Given the description of an element on the screen output the (x, y) to click on. 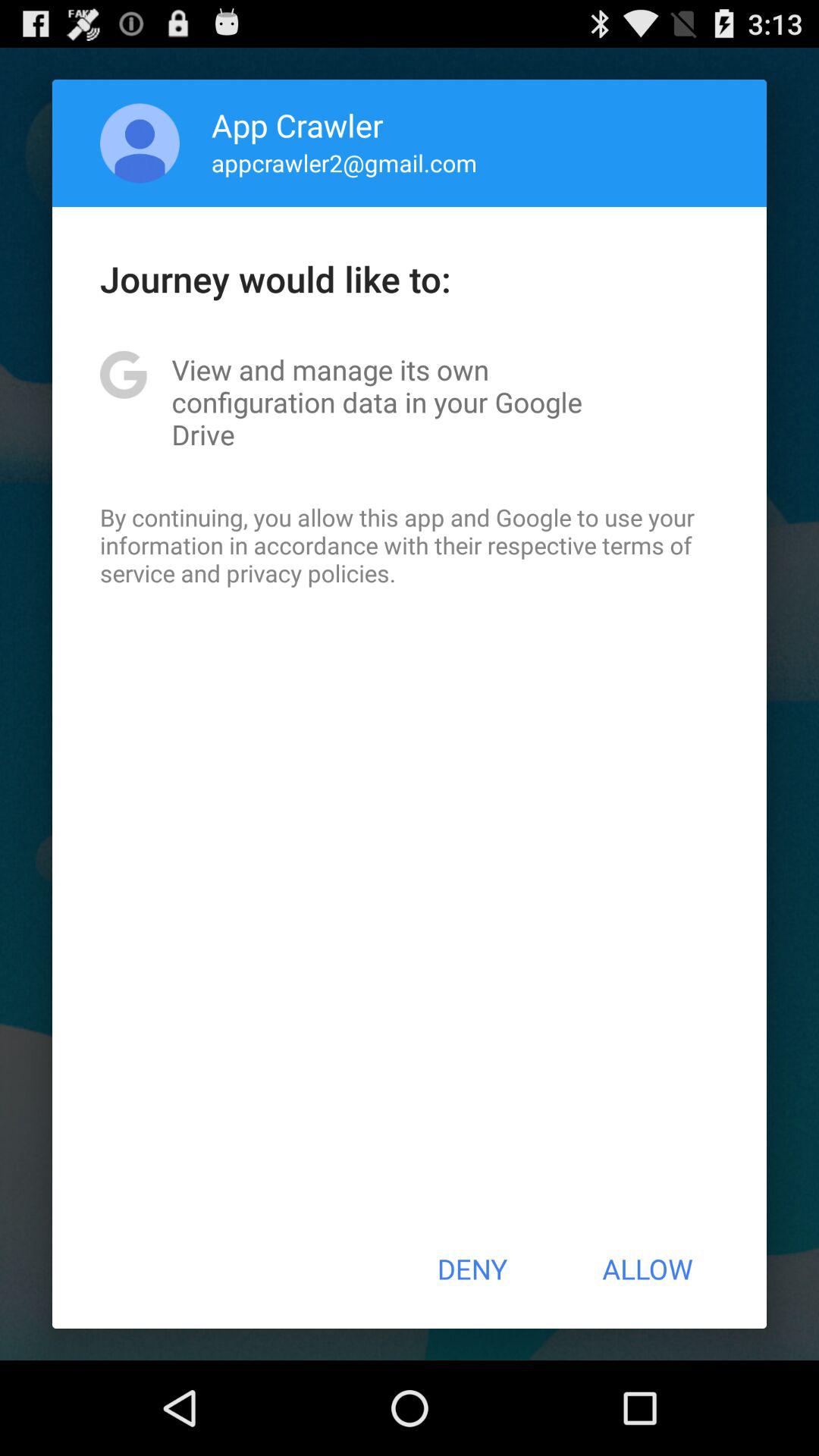
launch the icon at the bottom (471, 1268)
